Given the description of an element on the screen output the (x, y) to click on. 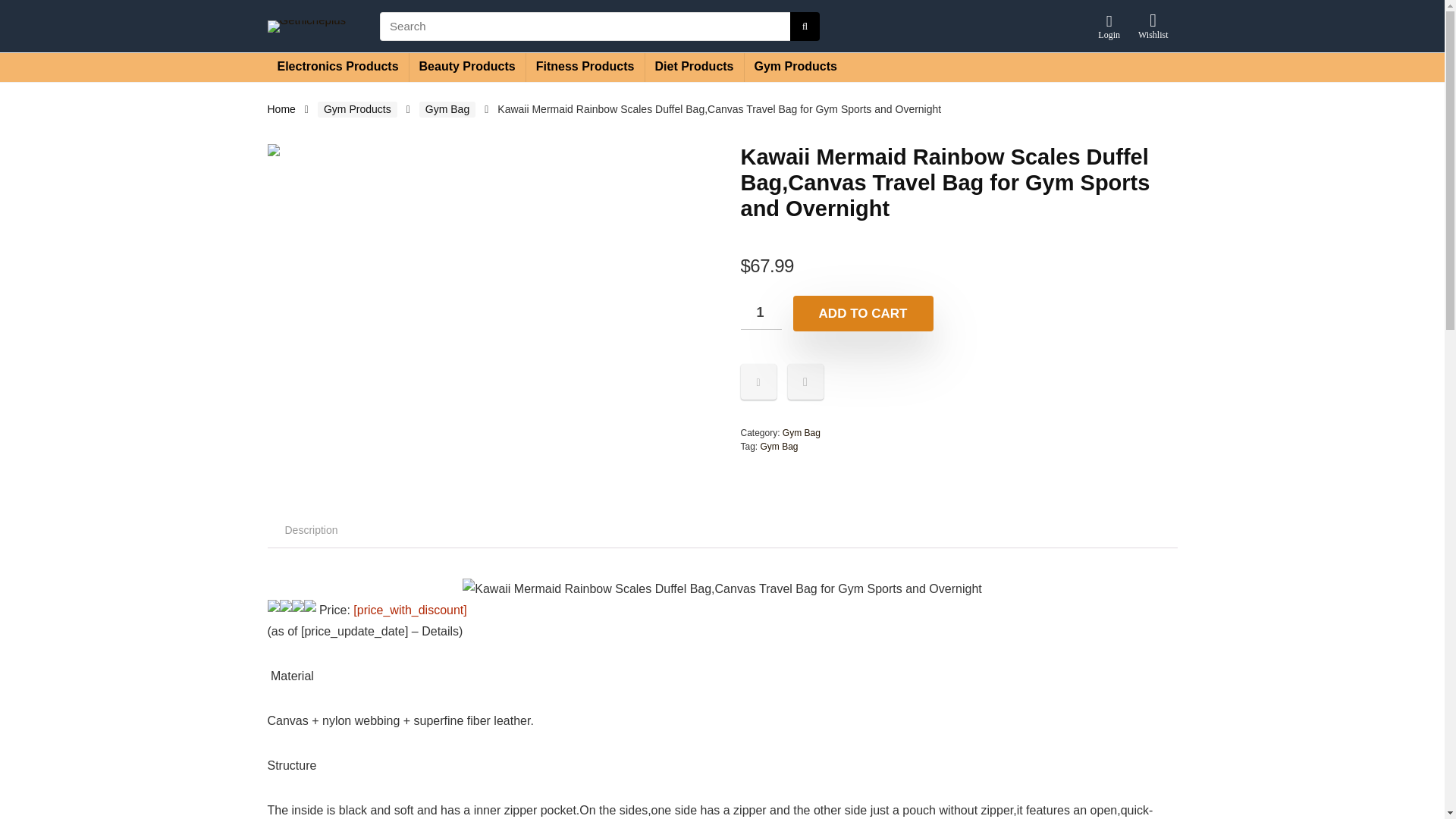
Diet Products (693, 67)
Description (310, 529)
Gym Bag (802, 432)
Home (280, 109)
Electronics Products (336, 67)
Gym Products (795, 67)
Beauty Products (467, 67)
1 (759, 312)
Gym Bag (447, 109)
Gym Bag (778, 446)
Gym Products (357, 109)
Fitness Products (585, 67)
ADD TO CART (863, 313)
